Given the description of an element on the screen output the (x, y) to click on. 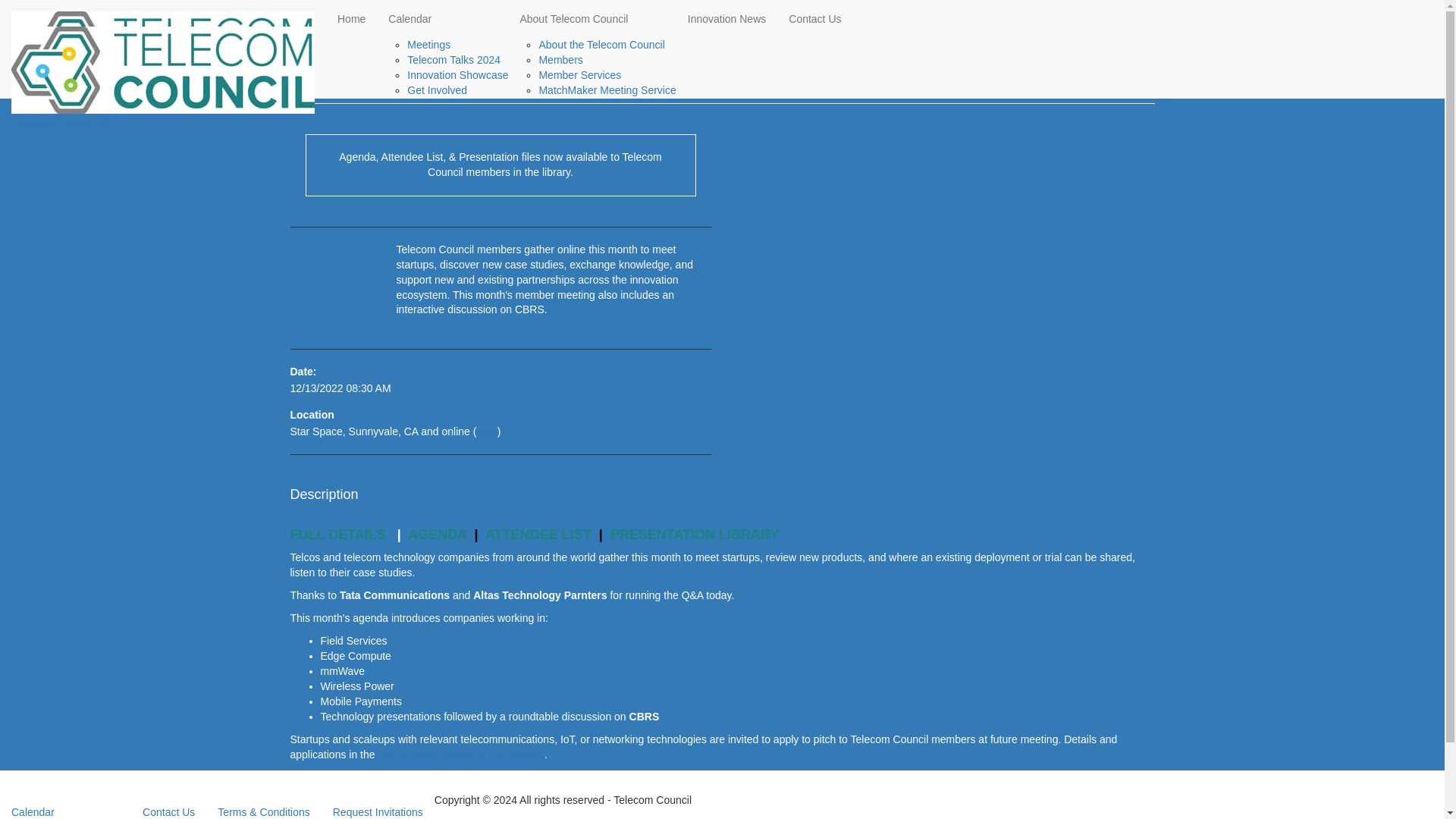
PRESENTATION LIBRARY (694, 534)
ATTENDEE LIST (537, 534)
About the Telecom Council (600, 44)
FULL DETAILS (337, 534)
AGENDA (436, 534)
Innovation Showcase (457, 74)
Calendar   (442, 18)
Meetings (428, 44)
Map (486, 430)
MatchMaker Meeting Service (606, 90)
